Given the description of an element on the screen output the (x, y) to click on. 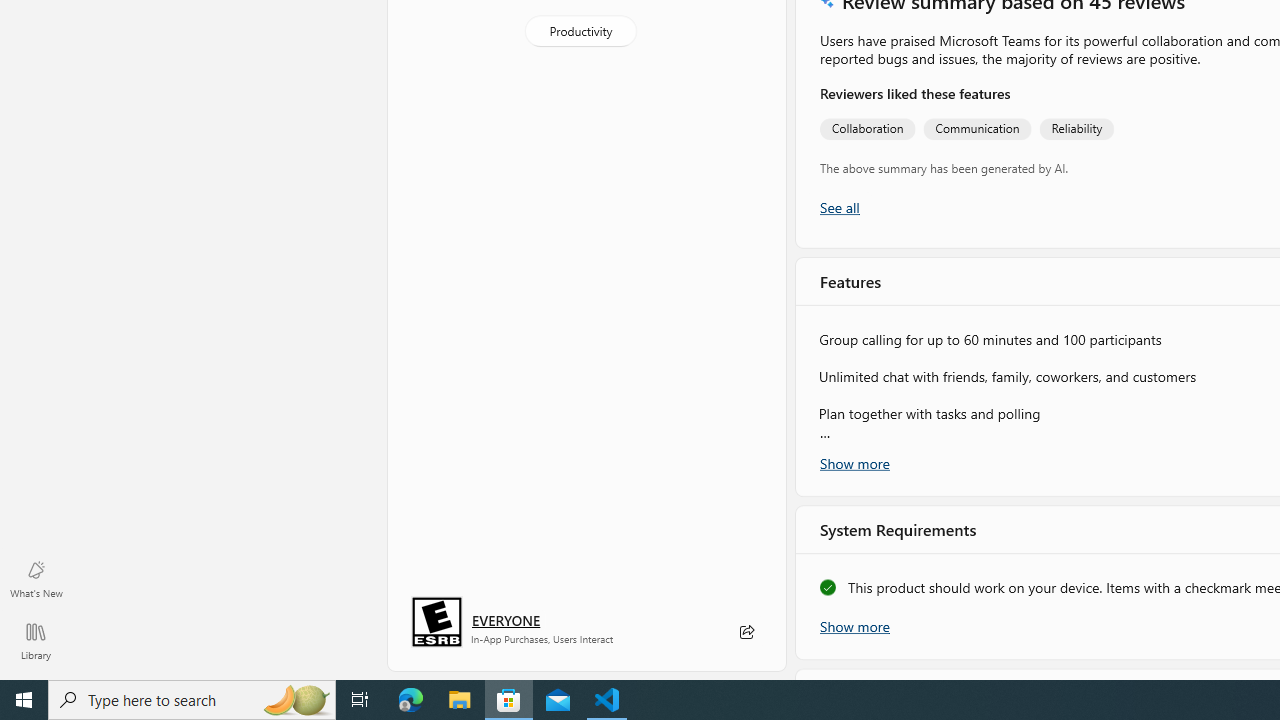
Share (746, 632)
Age rating: EVERYONE. Click for more information. (506, 619)
Productivity (579, 30)
Show all ratings and reviews (838, 207)
Show more (854, 625)
